Given the description of an element on the screen output the (x, y) to click on. 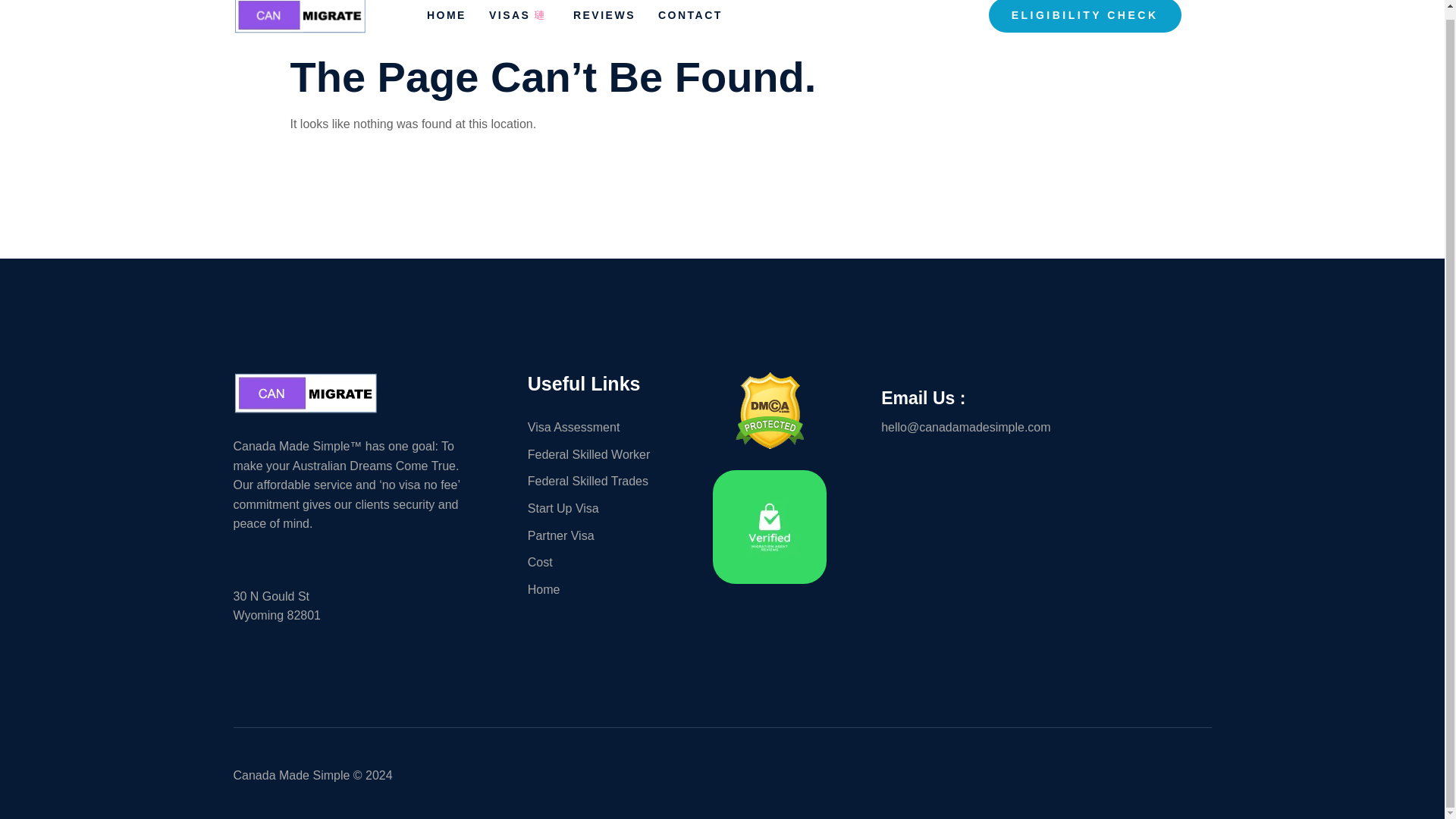
REVIEWS (615, 22)
DMCA.com Protection Status (770, 444)
Federal Skilled Worker (599, 455)
CONTACT (701, 22)
VISAS (531, 22)
Federal Skilled Trades (599, 481)
Partner Visa (599, 536)
ELIGIBILITY CHECK (1084, 16)
Cost (599, 562)
Visa Assessment (599, 427)
Start Up Visa (599, 508)
HOME (457, 22)
Home (599, 589)
